Given the description of an element on the screen output the (x, y) to click on. 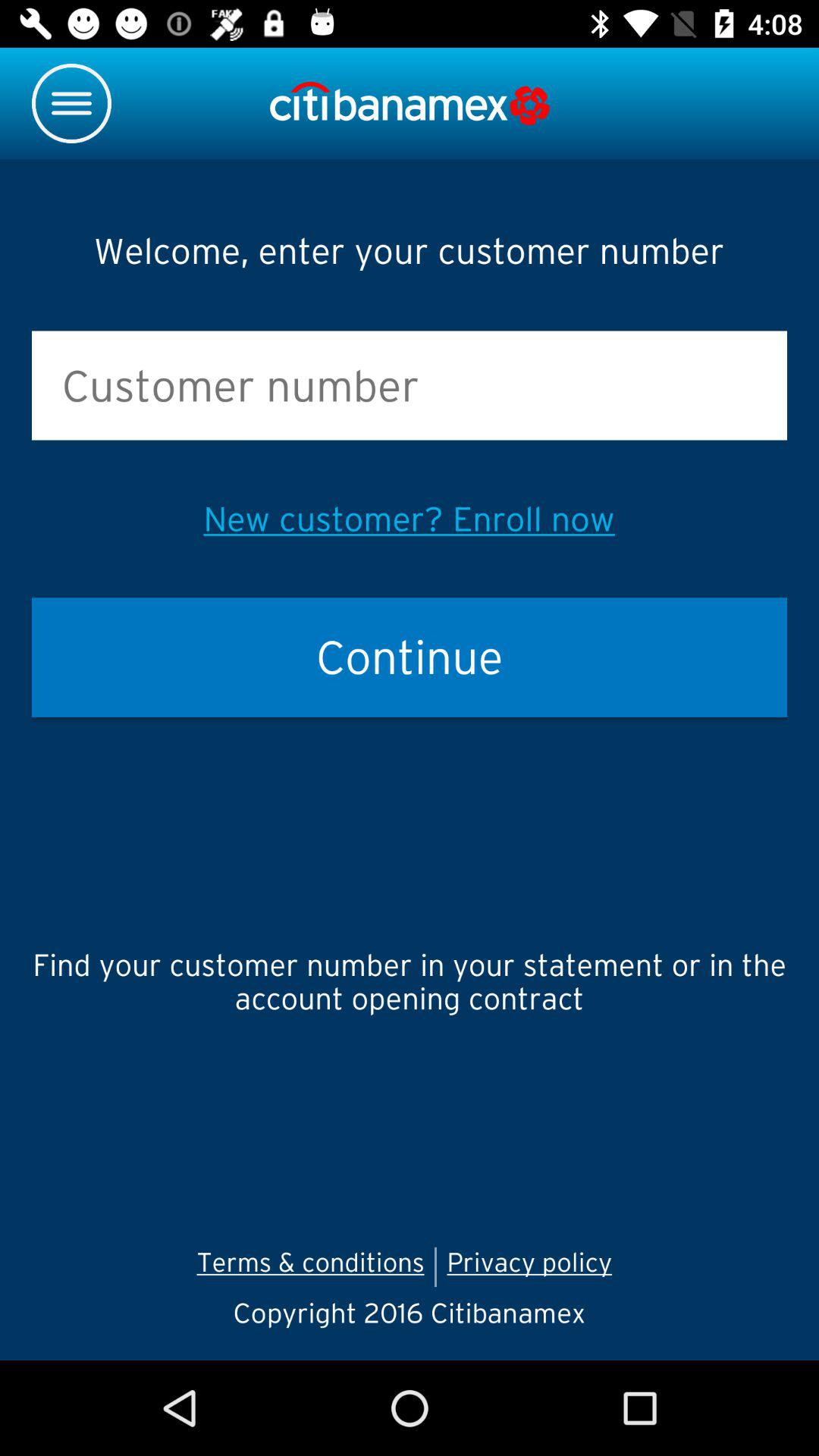
select the item above copyright 2016 citibanamex icon (534, 1267)
